Given the description of an element on the screen output the (x, y) to click on. 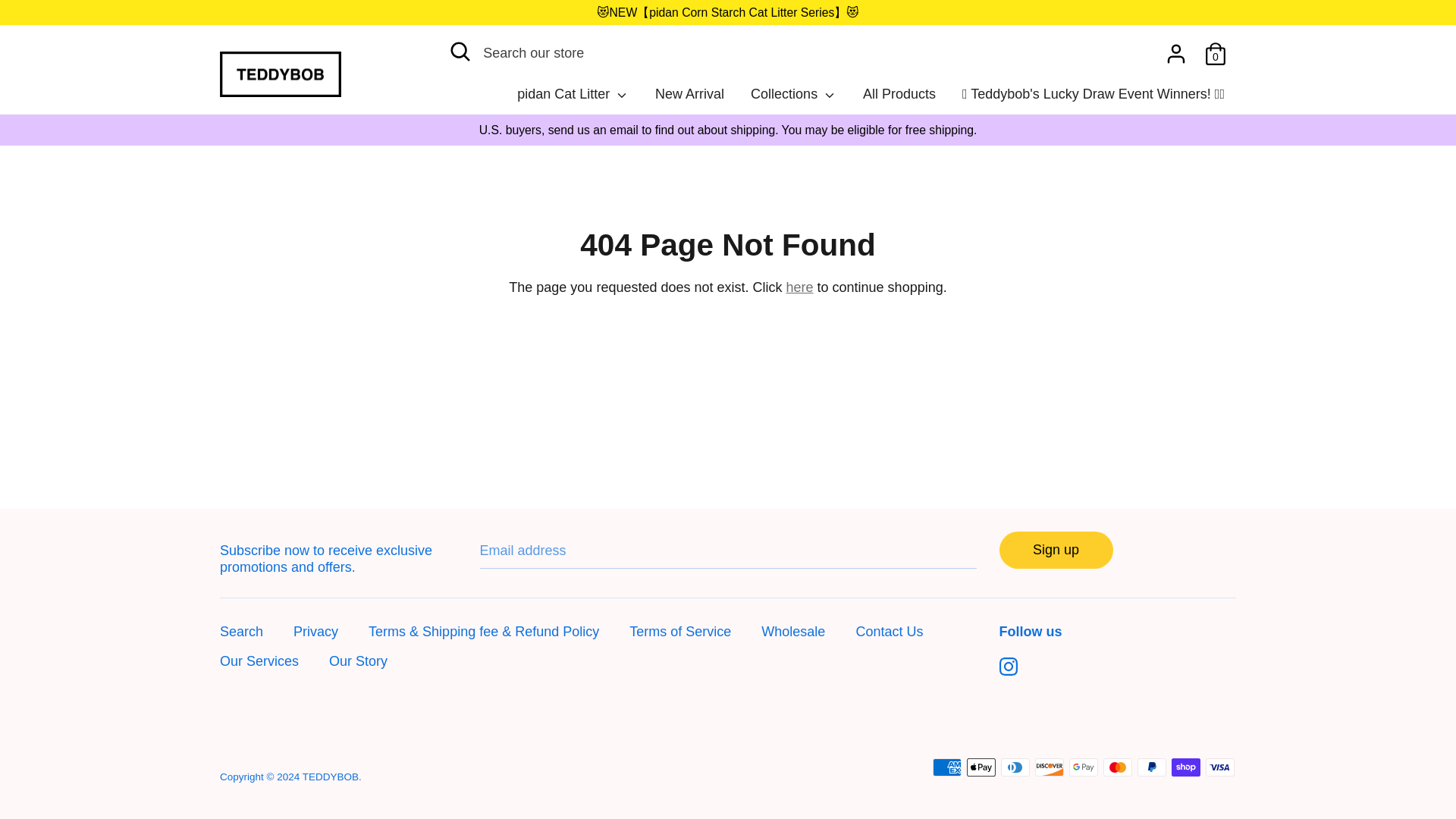
Visa (1219, 678)
Discover (1049, 678)
Diners Club (1015, 678)
0 (1214, 48)
Google Pay (1082, 678)
American Express (946, 678)
Shop Pay (1185, 678)
Mastercard (1117, 678)
PayPal (1151, 678)
Apple Pay (980, 678)
